Given the description of an element on the screen output the (x, y) to click on. 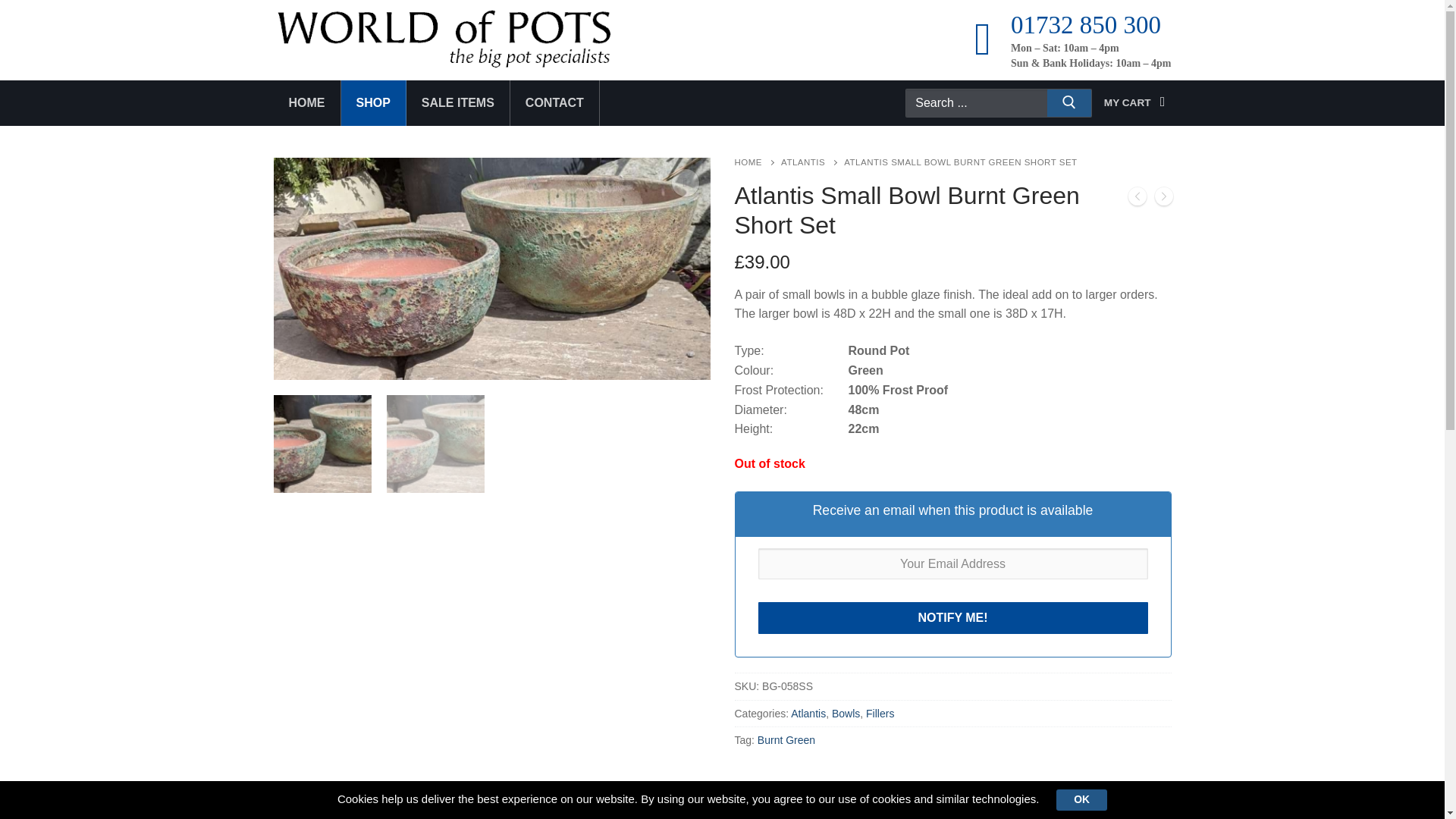
CONTACT (555, 103)
HOME (756, 162)
SALE ITEMS (458, 103)
Search for: (991, 103)
SHOP (373, 103)
Burnt Green (786, 739)
Bowls (845, 713)
At Bowl Burnt Grn Short Set (491, 269)
Atlantis (807, 713)
MY CART (1137, 102)
ATLANTIS (812, 162)
01732 850 300 (1085, 30)
Notify Me! (953, 617)
Fillers (879, 713)
HOME (306, 103)
